Given the description of an element on the screen output the (x, y) to click on. 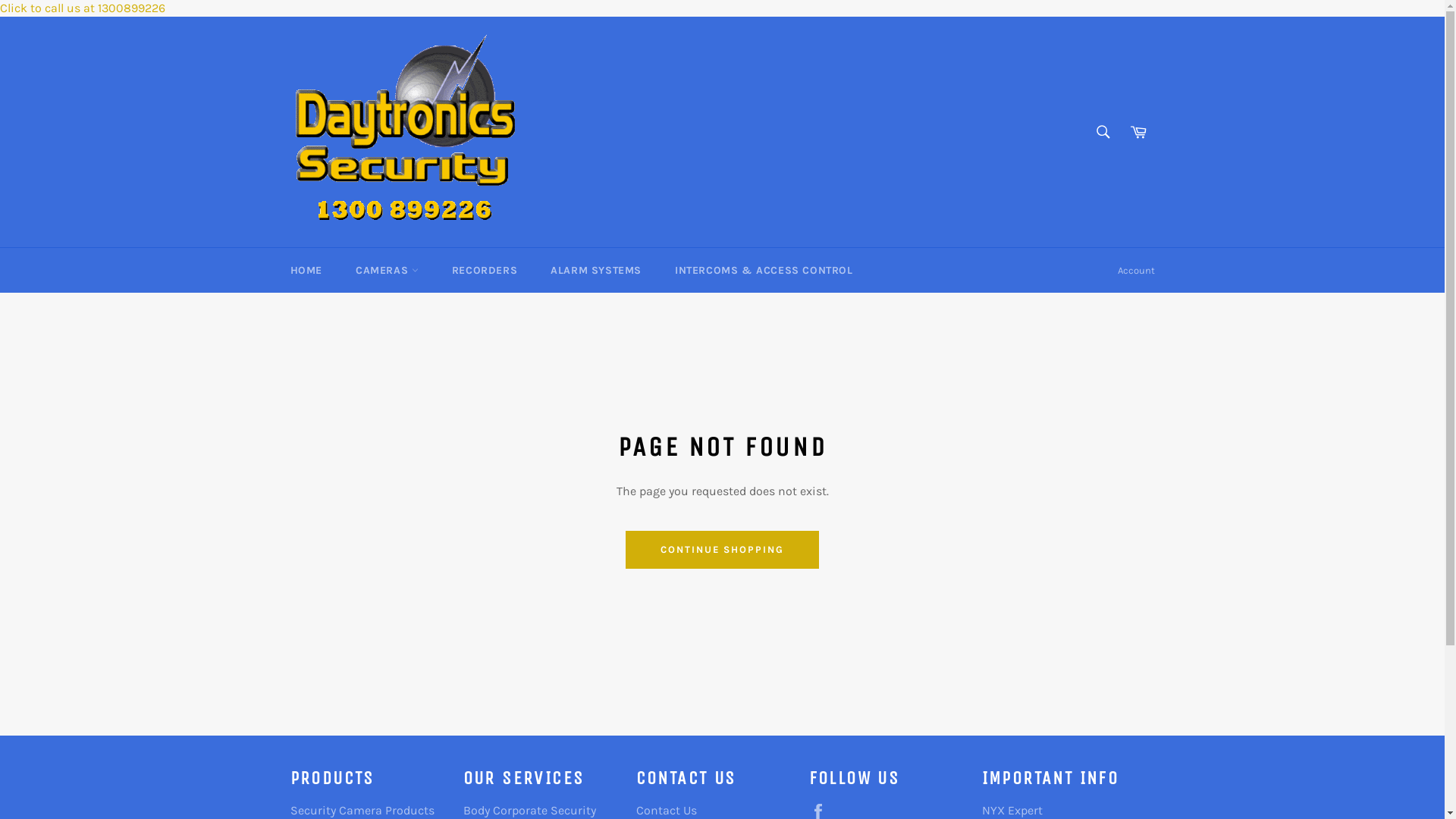
Contact Us Element type: text (665, 810)
HOME Element type: text (305, 269)
CAMERAS Element type: text (386, 269)
Security Camera Products Element type: text (361, 810)
Cart Element type: text (1138, 131)
RECORDERS Element type: text (484, 269)
INTERCOMS & ACCESS CONTROL Element type: text (763, 269)
Account Element type: text (1136, 270)
Body Corporate Security Element type: text (528, 810)
Search Element type: text (1103, 131)
CONTINUE SHOPPING Element type: text (722, 549)
ALARM SYSTEMS Element type: text (595, 269)
Click to call us at 1300899226 Element type: text (82, 7)
